Given the description of an element on the screen output the (x, y) to click on. 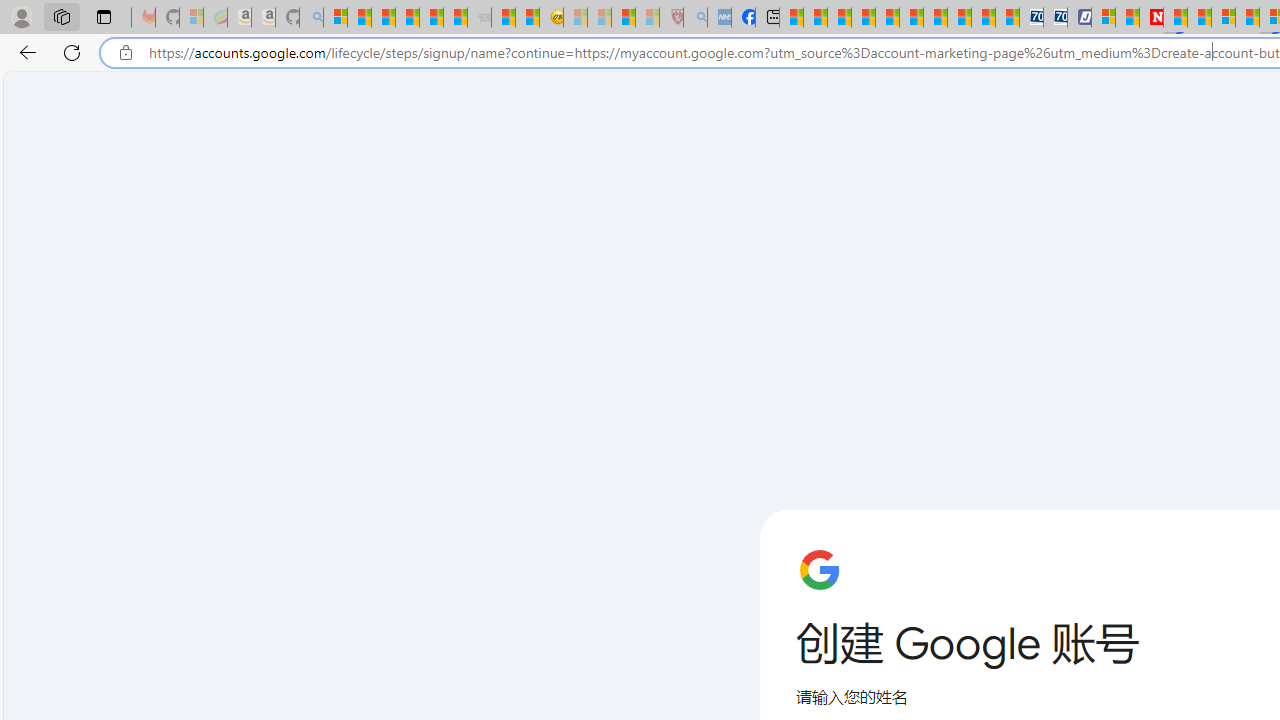
14 Common Myths Debunked By Scientific Facts (1198, 17)
